Given the description of an element on the screen output the (x, y) to click on. 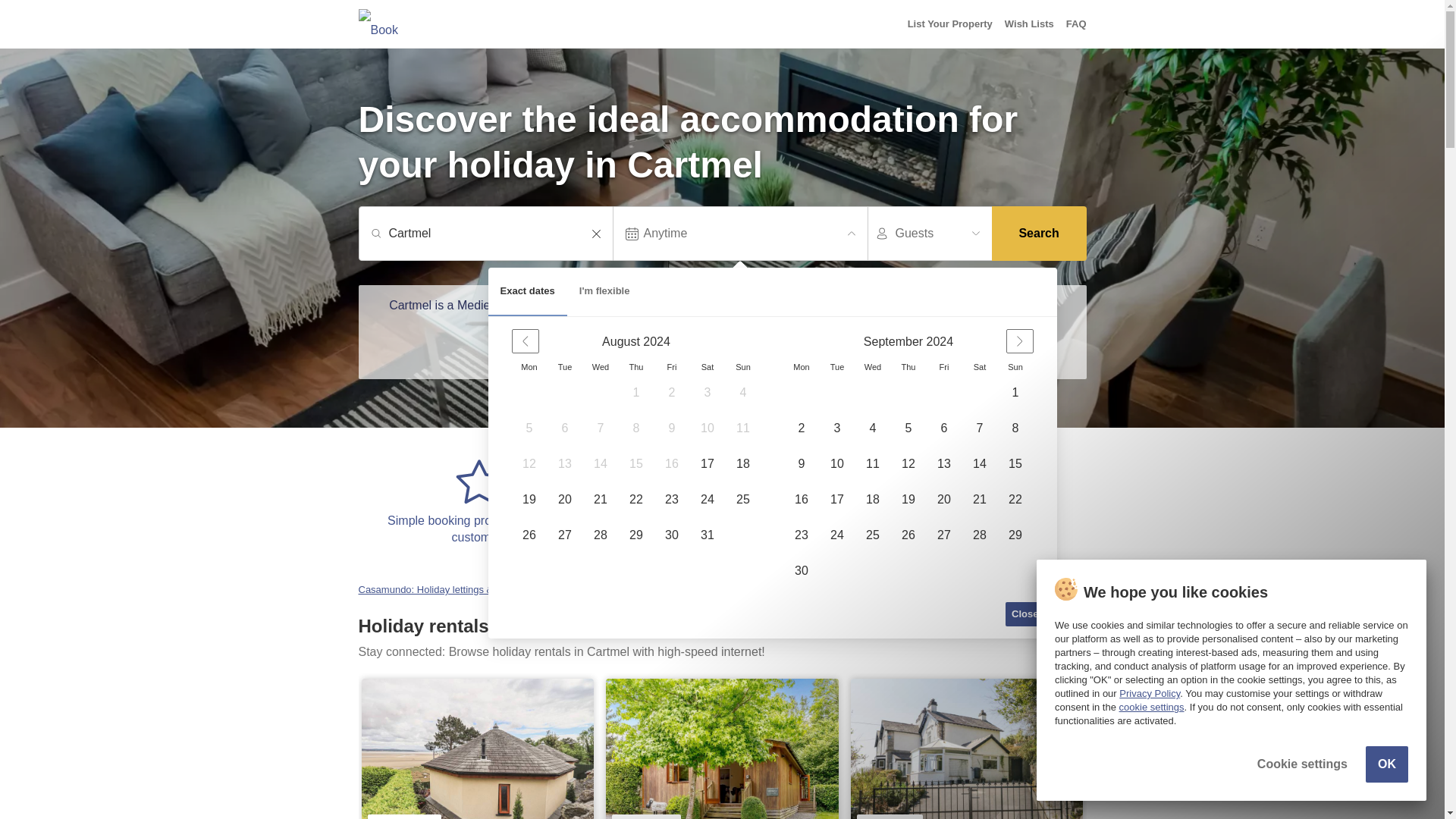
Privacy Policy (1149, 693)
Search (1038, 233)
Thu (908, 366)
Thu (635, 366)
Wed (600, 366)
Mon (529, 366)
Sun (743, 366)
Wed (872, 366)
Cumbria (695, 589)
Sun (1015, 366)
